Given the description of an element on the screen output the (x, y) to click on. 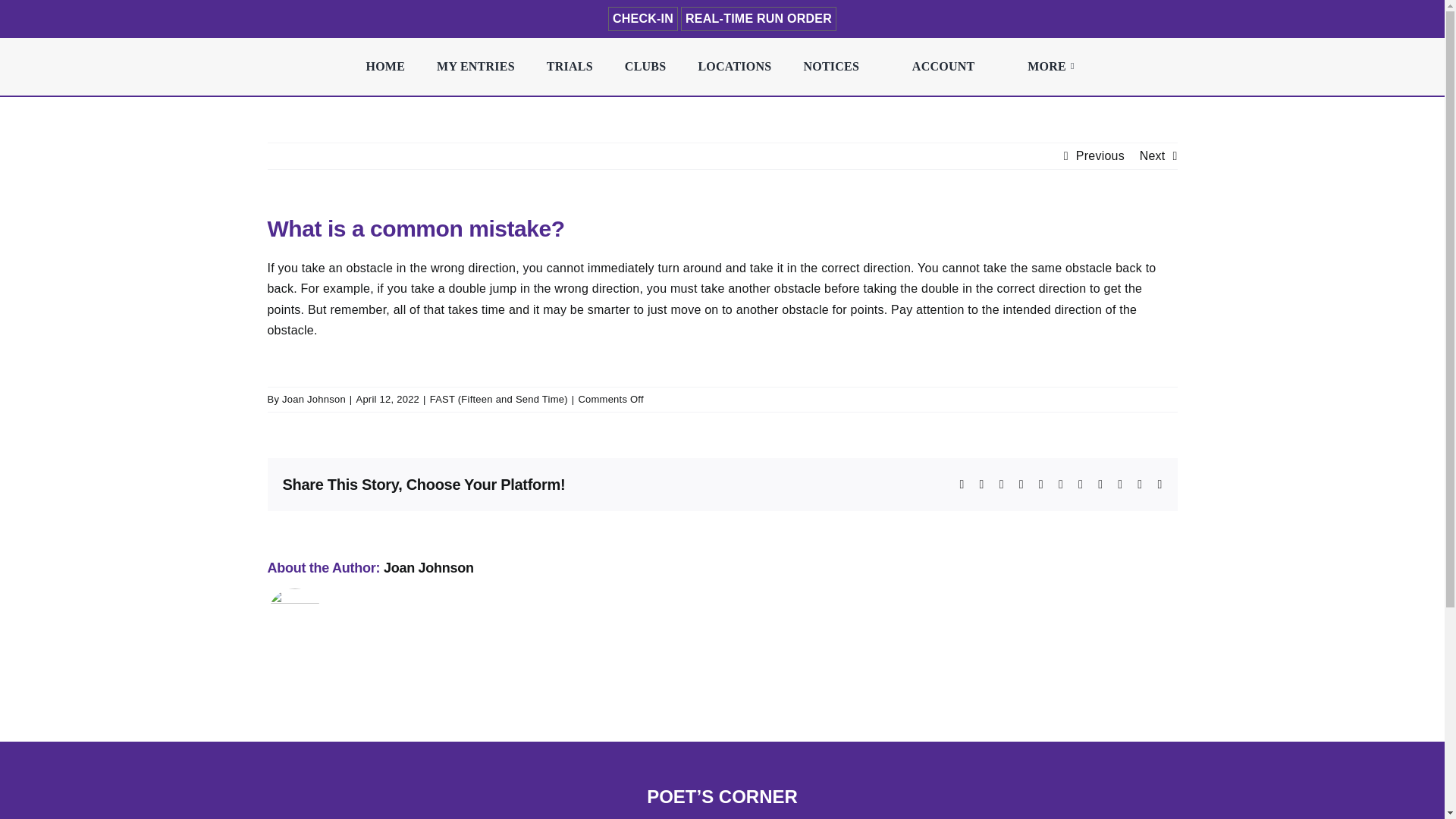
Joan Johnson (314, 398)
CHECK-IN (643, 18)
MORE (1053, 66)
TRIALS (568, 66)
Posts by Joan Johnson (429, 567)
CLUBS (645, 66)
Previous (1099, 155)
LOCATIONS (734, 66)
NOTICES (830, 66)
Joan Johnson (429, 567)
